Given the description of an element on the screen output the (x, y) to click on. 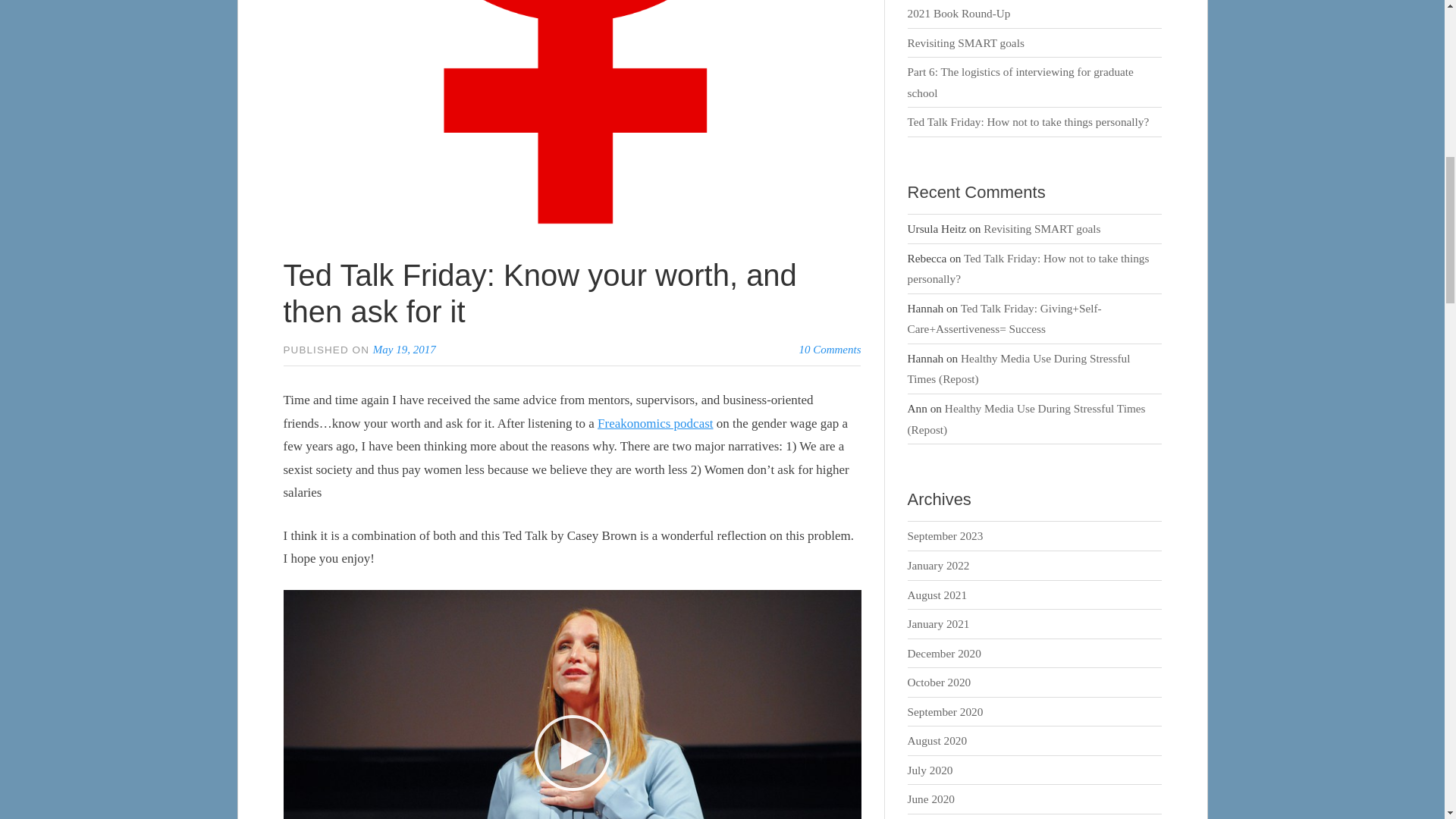
Revisiting SMART goals (966, 42)
Ted Talk Friday: How not to take things personally? (1028, 121)
Freakonomics podcast (654, 423)
Ted Talk Friday: Know your worth, and then ask for it (539, 293)
Ted Talk Friday: How not to take things personally? (1028, 268)
10 Comments (828, 349)
2021 Book Round-Up (958, 12)
Part 6: The logistics of interviewing for graduate school (1020, 82)
Revisiting SMART goals (1042, 228)
May 19, 2017 (403, 349)
September 2023 (945, 535)
